Given the description of an element on the screen output the (x, y) to click on. 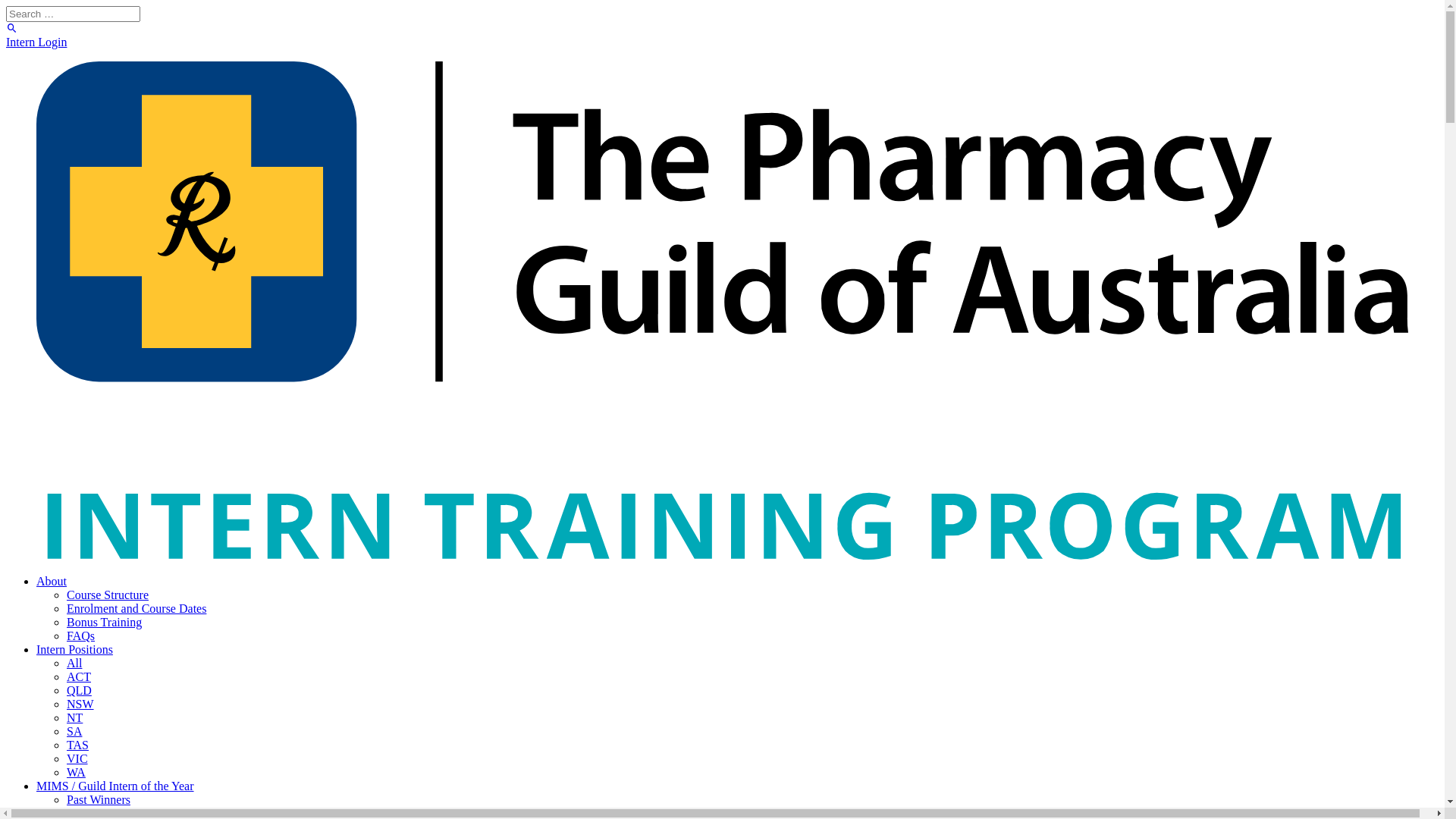
QLD Element type: text (78, 690)
MIMS / Guild Intern of the Year Element type: text (115, 785)
ACT Element type: text (78, 676)
The Pharmacy Guild of Australia logo Element type: hover (722, 310)
VIC Element type: text (76, 758)
Intern Login Element type: text (36, 41)
Past Winners Element type: text (98, 799)
About Element type: text (51, 580)
NSW Element type: text (80, 703)
Bonus Training Element type: text (103, 621)
Course Structure Element type: text (107, 594)
All Element type: text (73, 662)
TAS Element type: text (77, 744)
SA Element type: text (73, 730)
NT Element type: text (74, 717)
Enrolment and Course Dates Element type: text (136, 608)
WA Element type: text (75, 771)
Intern Positions Element type: text (74, 649)
FAQs Element type: text (80, 635)
